Given the description of an element on the screen output the (x, y) to click on. 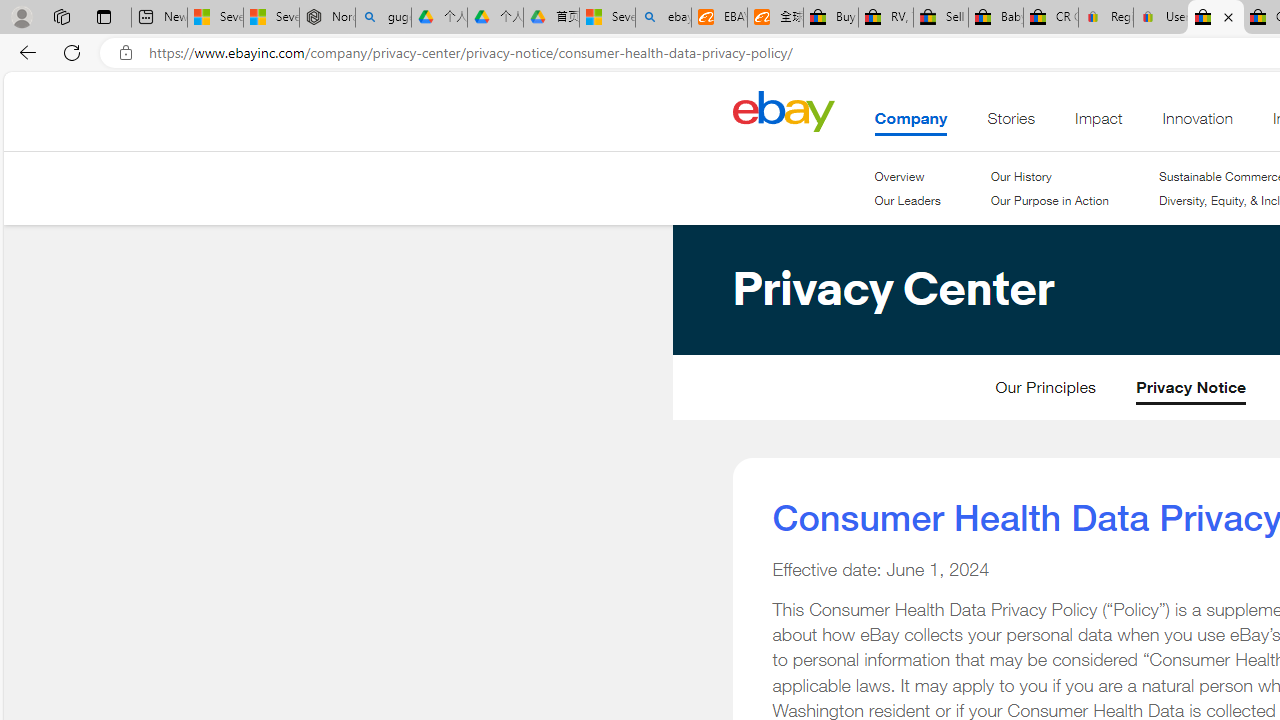
Company (911, 123)
Overview (899, 176)
User Privacy Notice | eBay (1160, 17)
Our Leaders (907, 201)
Overview (907, 176)
guge yunpan - Search (382, 17)
Innovation (1197, 123)
